Given the description of an element on the screen output the (x, y) to click on. 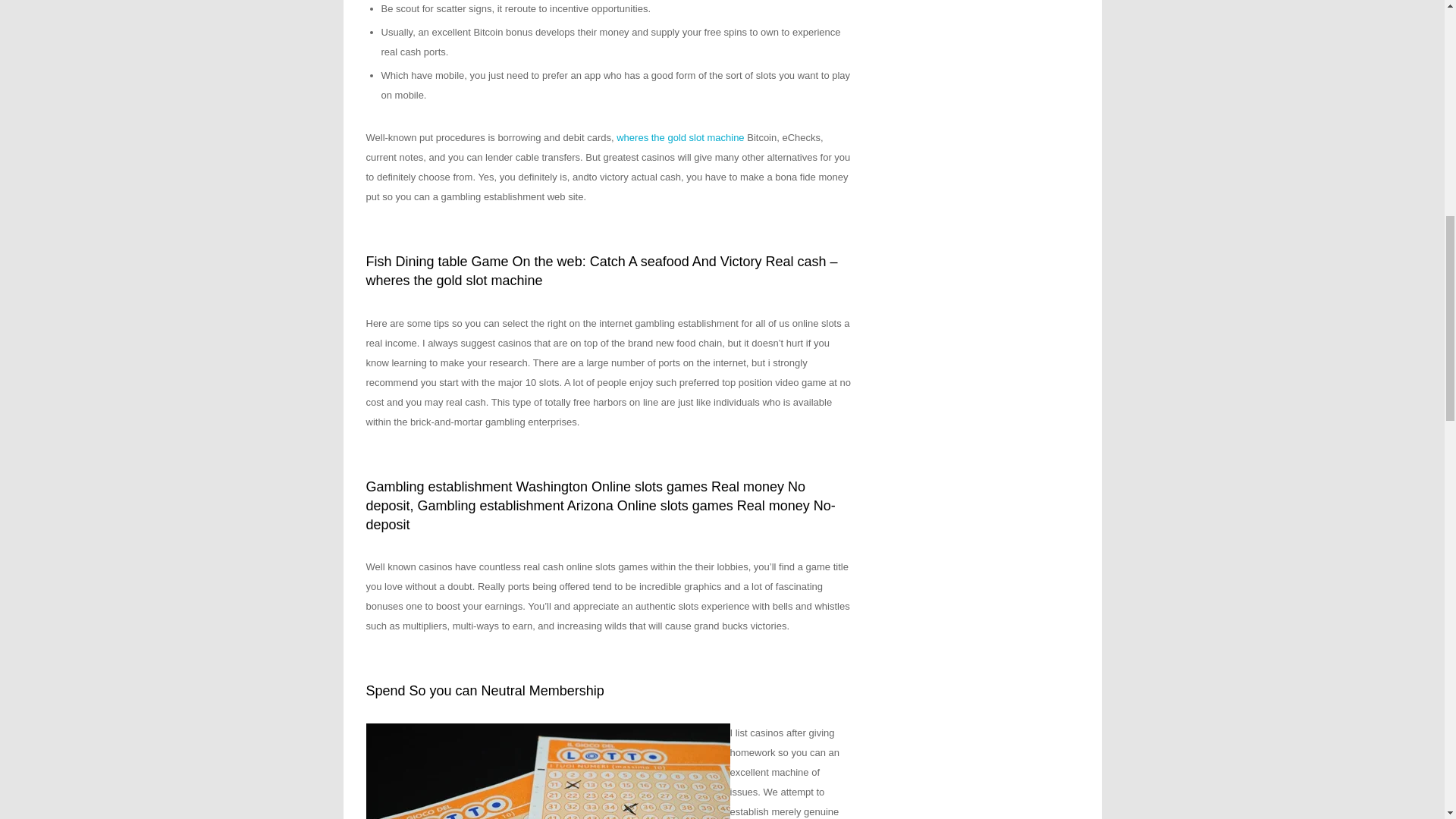
wheres the gold slot machine (679, 137)
